Given the description of an element on the screen output the (x, y) to click on. 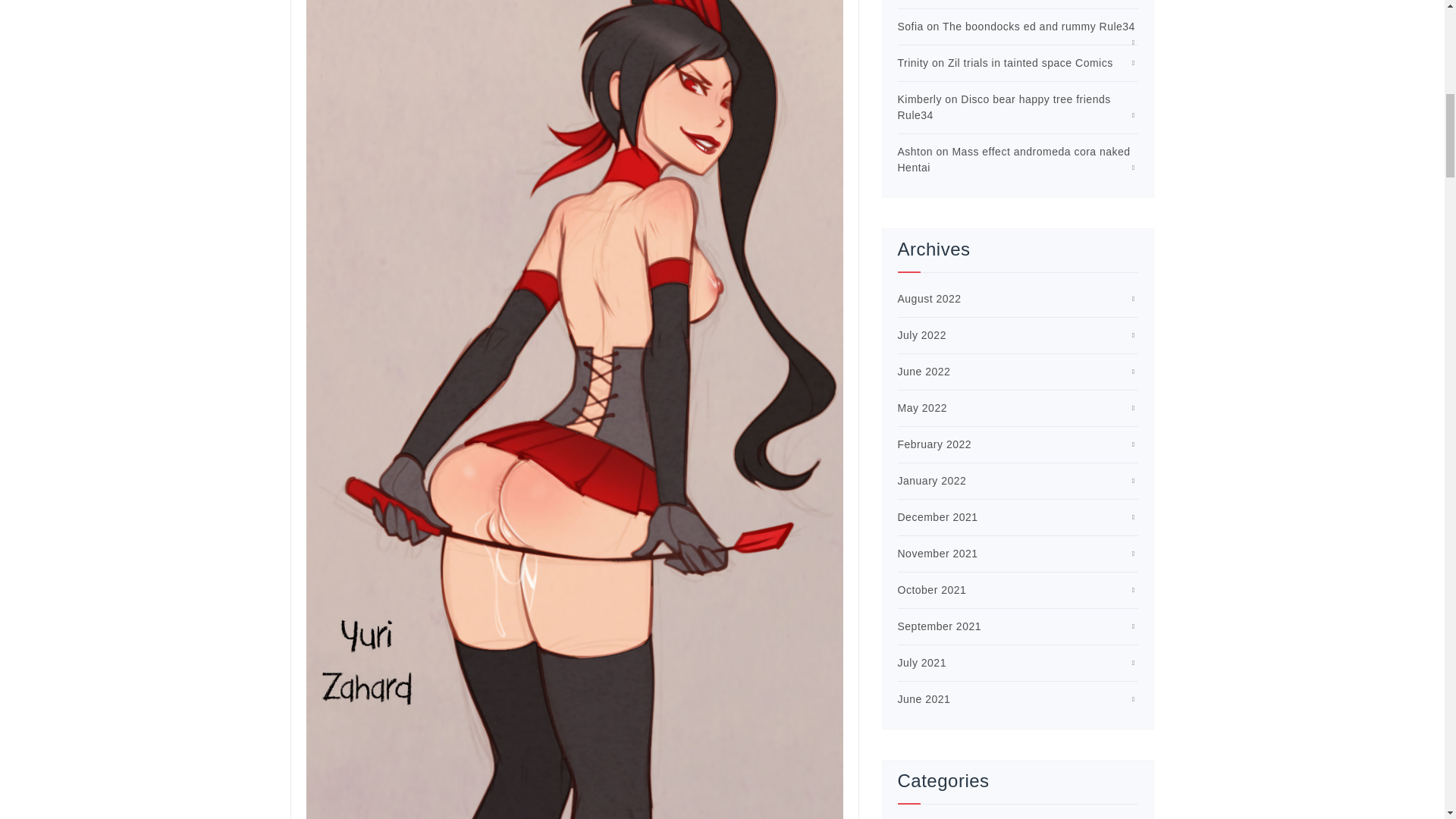
Zil trials in tainted space Comics (1030, 62)
February 2022 (935, 444)
Disco bear happy tree friends Rule34 (1004, 107)
August 2022 (929, 298)
May 2022 (922, 408)
The boondocks ed and rummy Rule34 (1038, 26)
Mass effect andromeda cora naked Hentai (1014, 159)
December 2021 (938, 517)
June 2022 (924, 371)
January 2022 (932, 480)
July 2022 (922, 335)
